Given the description of an element on the screen output the (x, y) to click on. 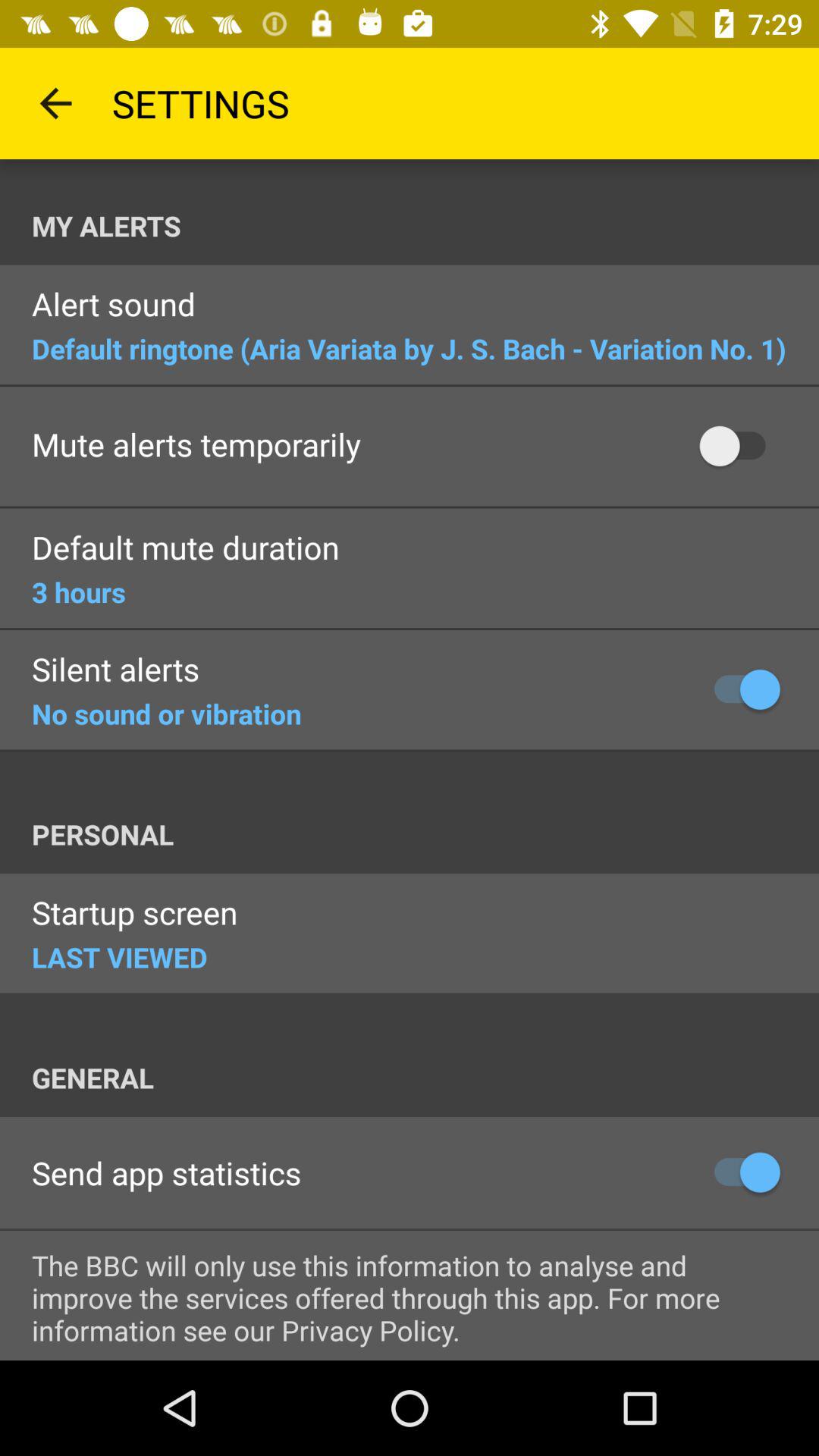
turn off icon above my alerts (55, 103)
